Given the description of an element on the screen output the (x, y) to click on. 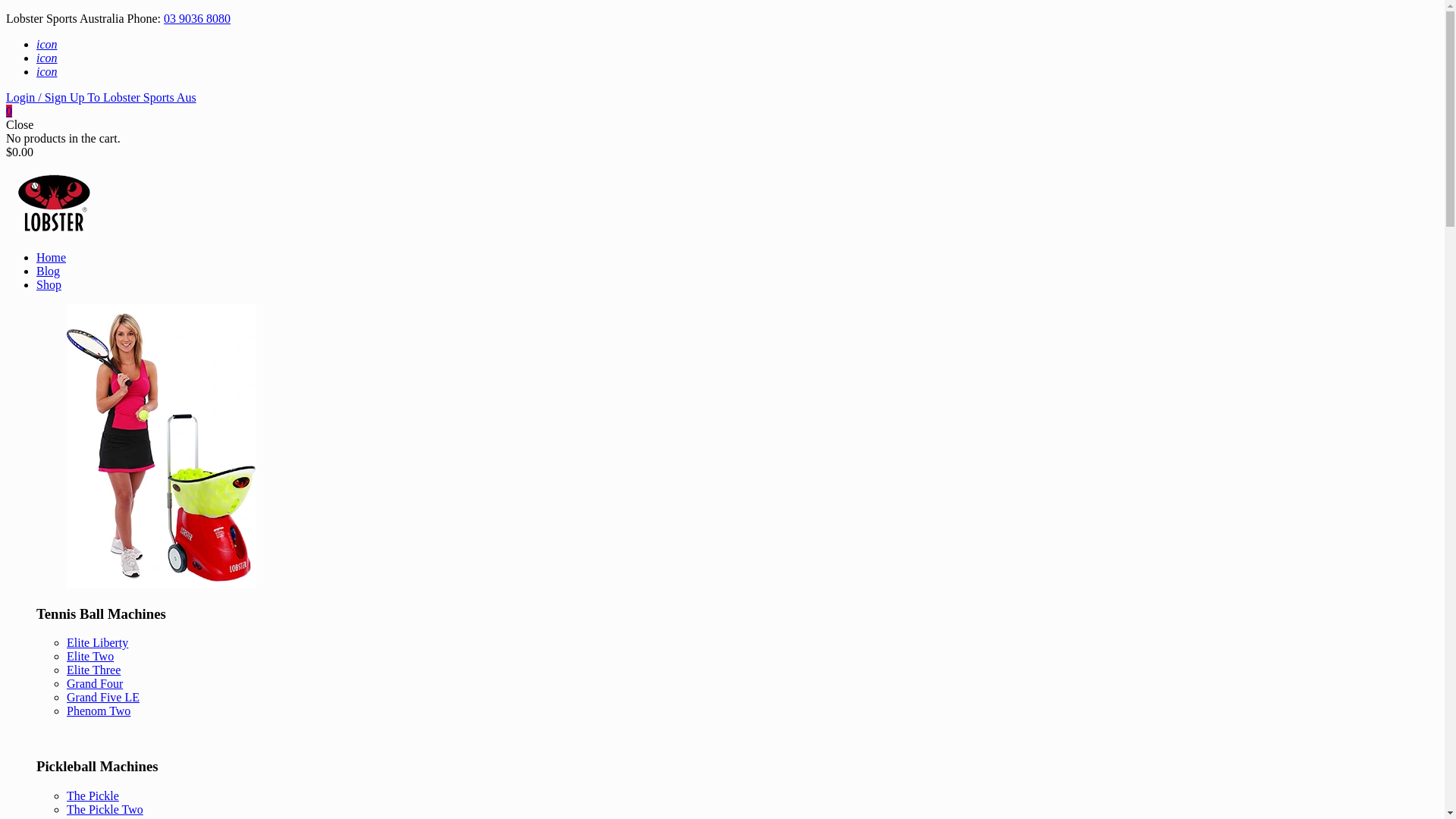
Phenom Two Element type: text (98, 710)
icon Element type: text (46, 71)
Login / Sign Up To Lobster Sports Aus Element type: text (101, 97)
icon Element type: text (46, 43)
Blog Element type: text (47, 270)
Grand Four Element type: text (94, 683)
Home Element type: text (50, 257)
Shop Element type: text (48, 284)
The Pickle Two Element type: text (104, 809)
The Pickle Element type: text (92, 795)
Grand Five LE Element type: text (102, 696)
icon Element type: text (46, 57)
0 Element type: text (9, 110)
Elite Three Element type: text (93, 669)
03 9036 8080 Element type: text (196, 18)
Elite Liberty Element type: text (97, 642)
Lobster-Australia-girl tennis Element type: hover (161, 446)
Elite Two Element type: text (89, 655)
